Given the description of an element on the screen output the (x, y) to click on. 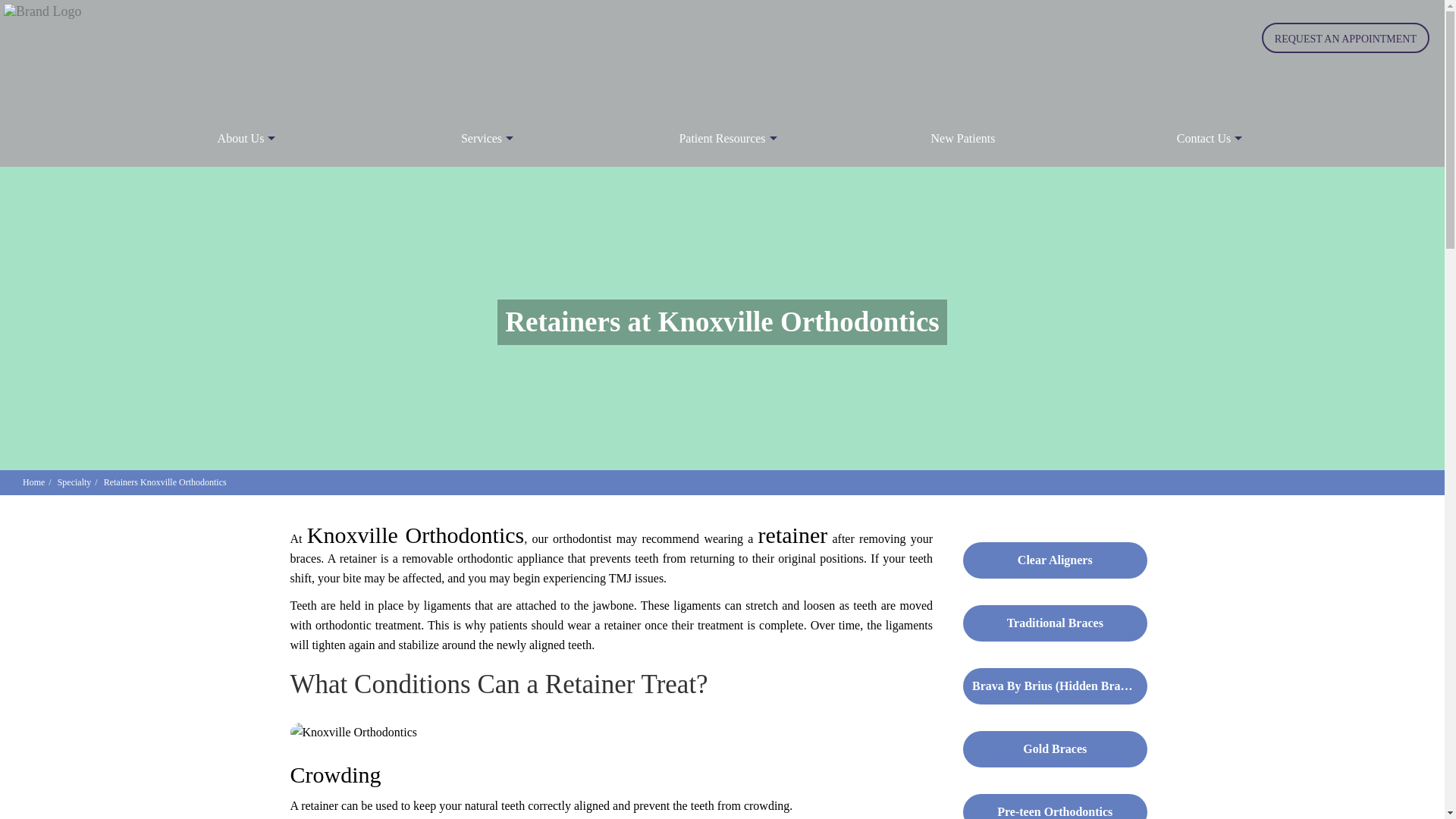
Patient Resources (722, 138)
Services (481, 138)
About Us (240, 138)
New Patients (963, 138)
Contact Us (1203, 138)
Knoxville Orthodontics (352, 732)
REQUEST AN APPOINTMENT (1345, 37)
